Given the description of an element on the screen output the (x, y) to click on. 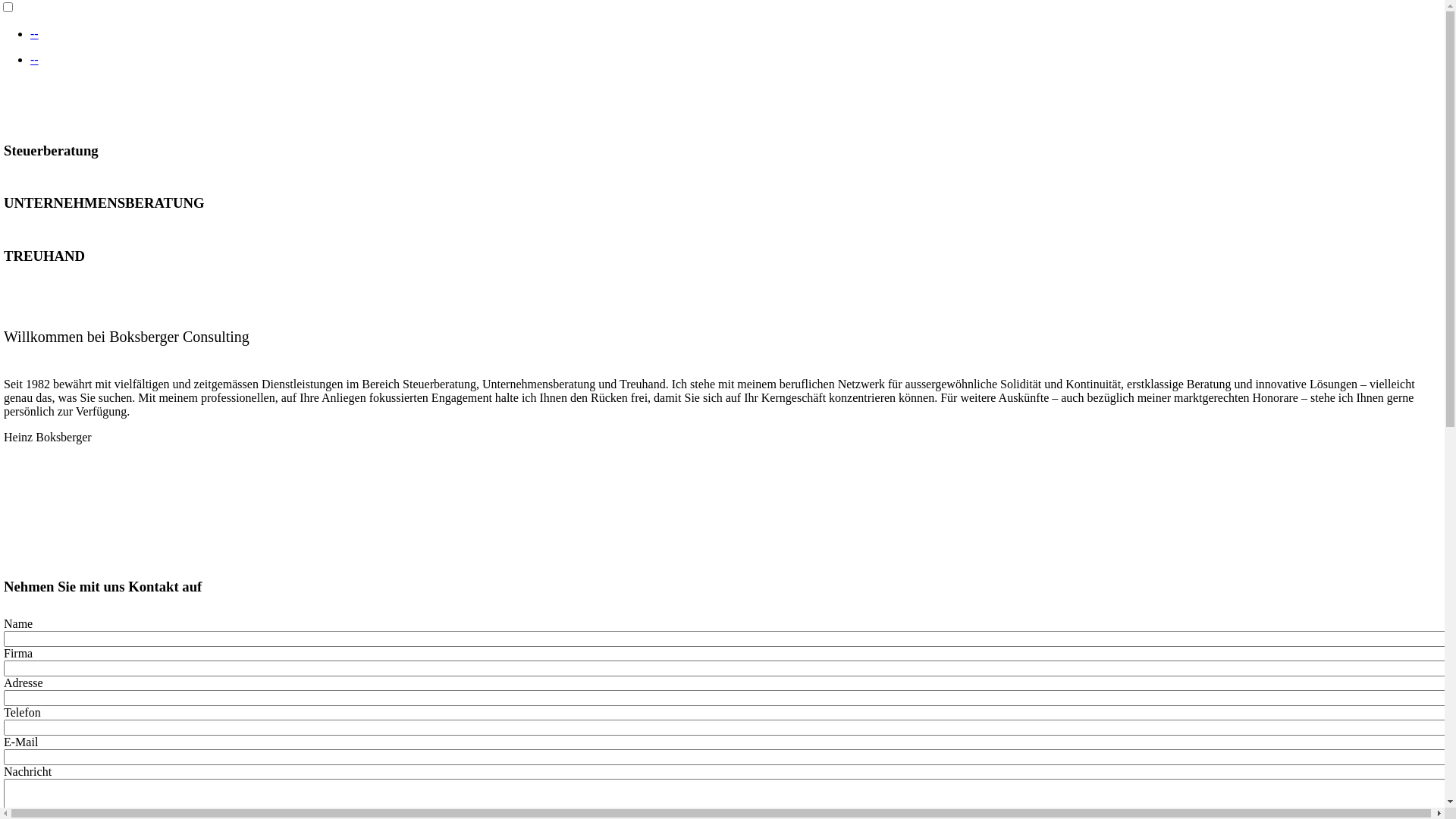
-- Element type: text (34, 59)
-- Element type: text (34, 33)
